Given the description of an element on the screen output the (x, y) to click on. 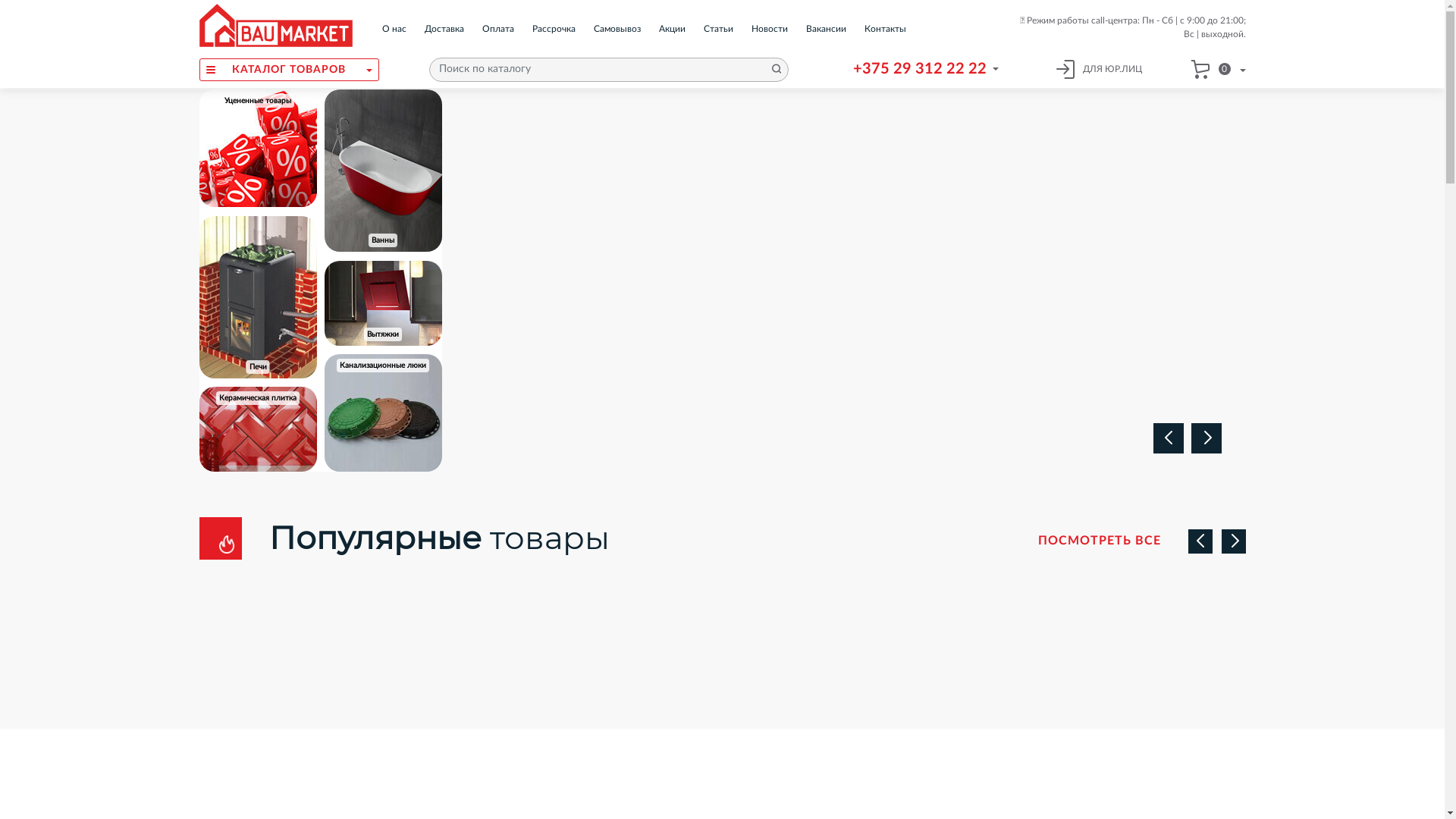
+375 29 312 22 22 Element type: text (918, 68)
0 Element type: text (1217, 68)
